Given the description of an element on the screen output the (x, y) to click on. 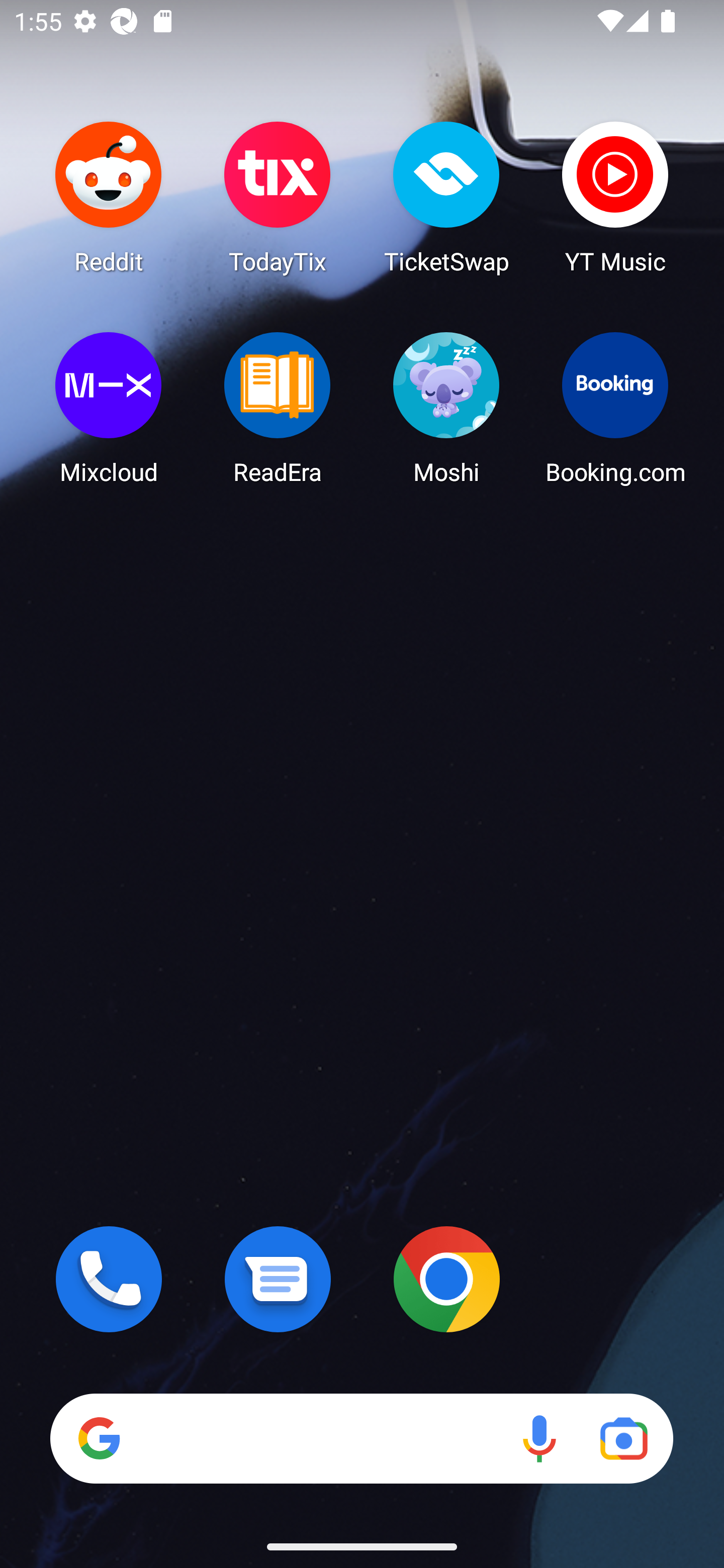
Reddit (108, 196)
TodayTix (277, 196)
TicketSwap (445, 196)
YT Music (615, 196)
Mixcloud (108, 407)
ReadEra (277, 407)
Moshi (445, 407)
Booking.com (615, 407)
Phone (108, 1279)
Messages (277, 1279)
Chrome (446, 1279)
Search Voice search Google Lens (361, 1438)
Voice search (539, 1438)
Google Lens (623, 1438)
